Given the description of an element on the screen output the (x, y) to click on. 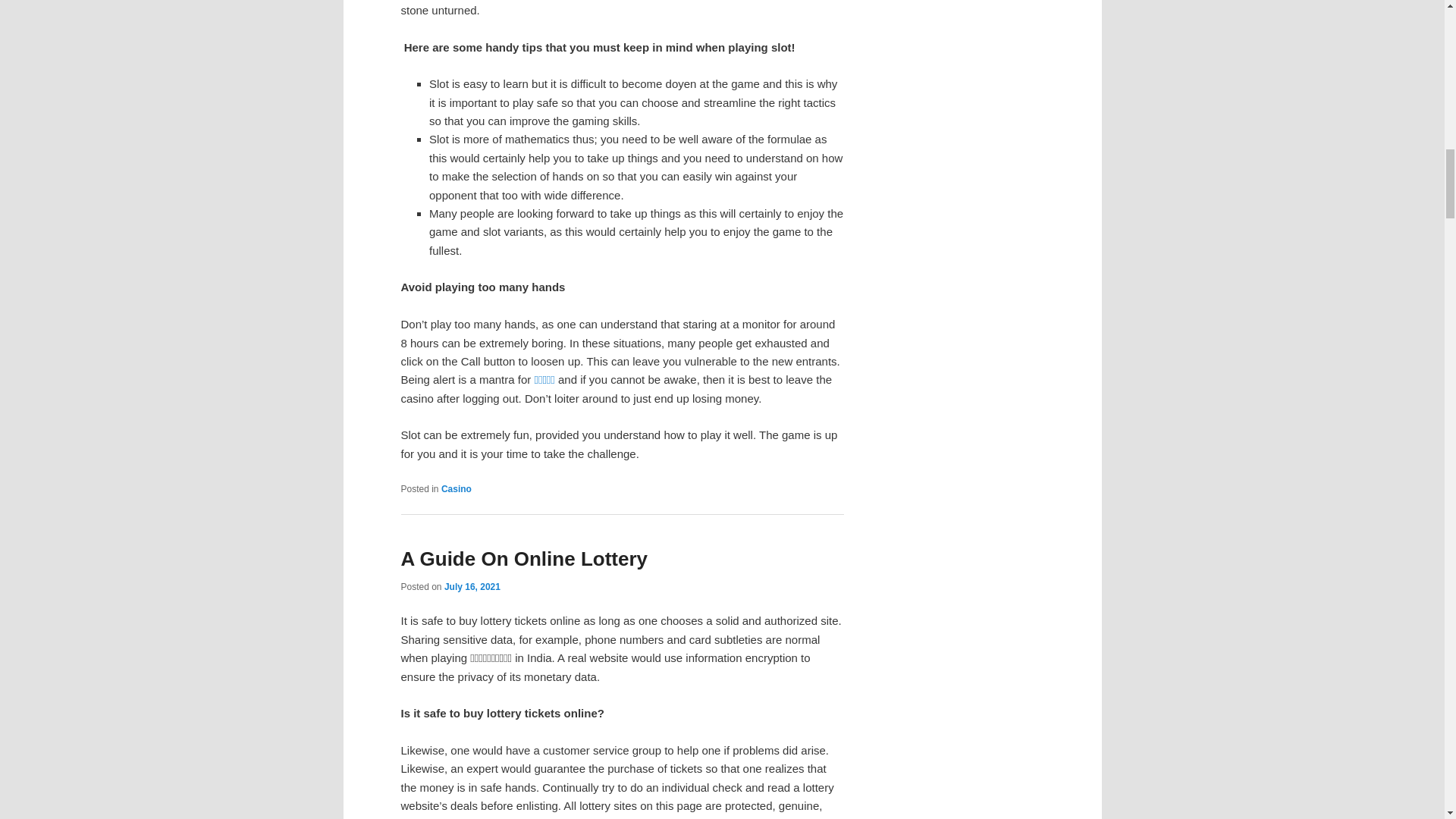
9:34 am (472, 586)
Casino (456, 489)
A Guide On Online Lottery (523, 558)
July 16, 2021 (472, 586)
